Given the description of an element on the screen output the (x, y) to click on. 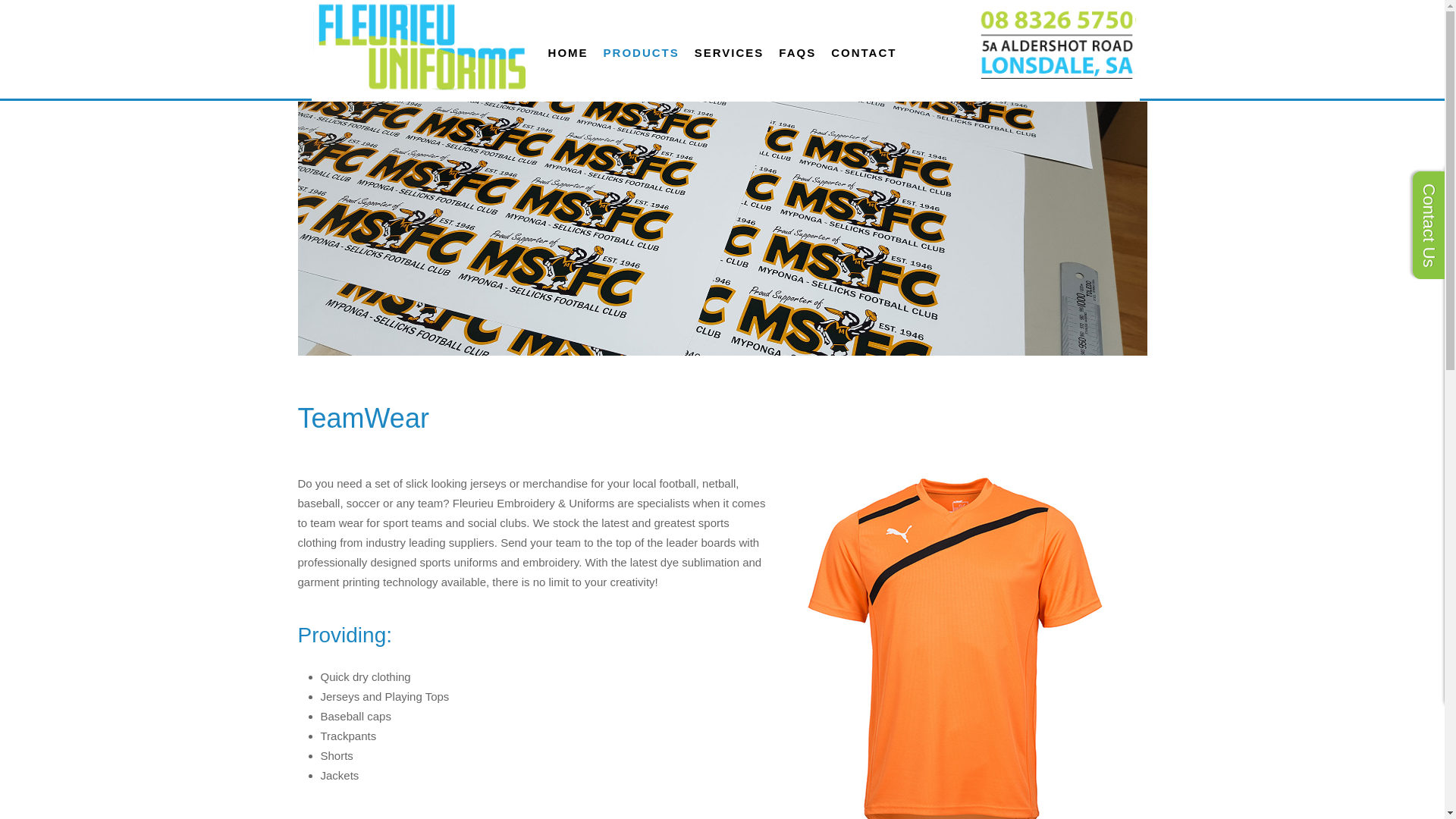
  Element type: text (721, 45)
HOME Element type: text (568, 52)
PRODUCTS Element type: text (641, 52)
SERVICES Element type: text (729, 52)
CONTACT Element type: text (863, 52)
FAQS Element type: text (797, 52)
